Given the description of an element on the screen output the (x, y) to click on. 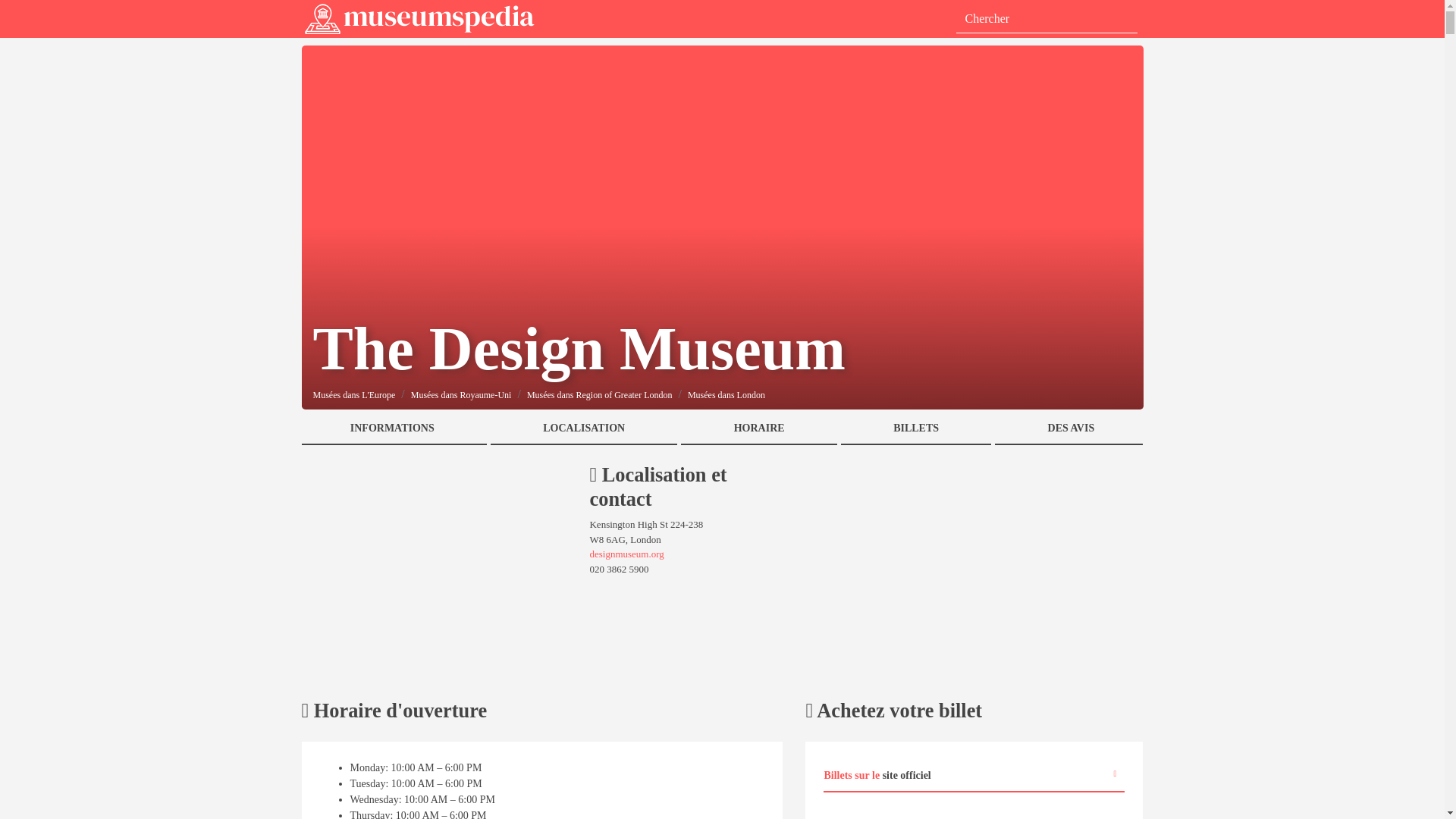
LOCALISATION (583, 428)
designmuseum.org (626, 553)
INFORMATIONS (394, 428)
Advertisement (434, 569)
BILLETS (916, 428)
HORAIRE (758, 428)
Billets sur le site officiel (974, 776)
DES AVIS (1068, 428)
